Given the description of an element on the screen output the (x, y) to click on. 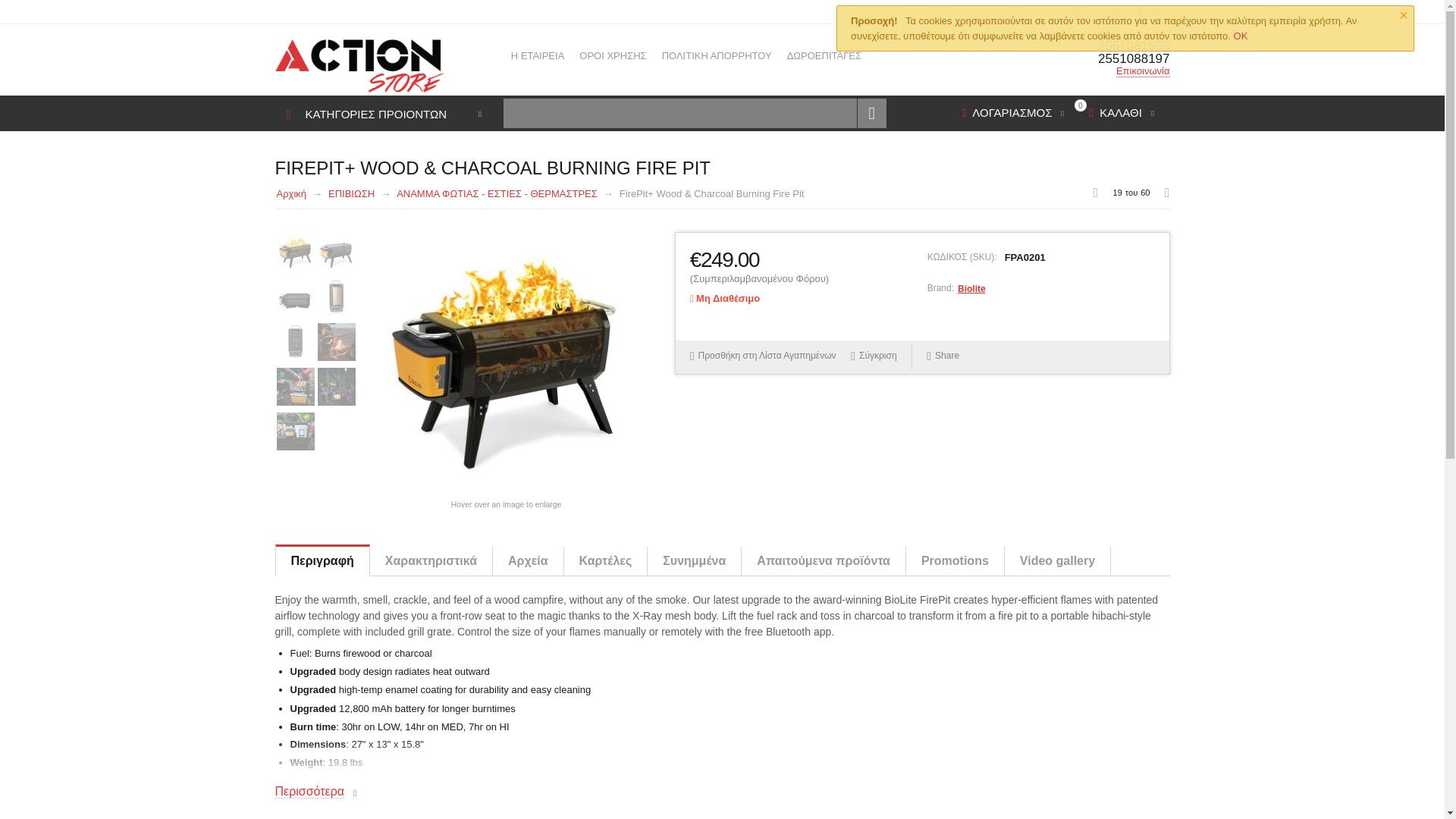
2551088197 (1133, 58)
OK (1240, 35)
2551081555 (1133, 45)
Brands (1153, 11)
